Given the description of an element on the screen output the (x, y) to click on. 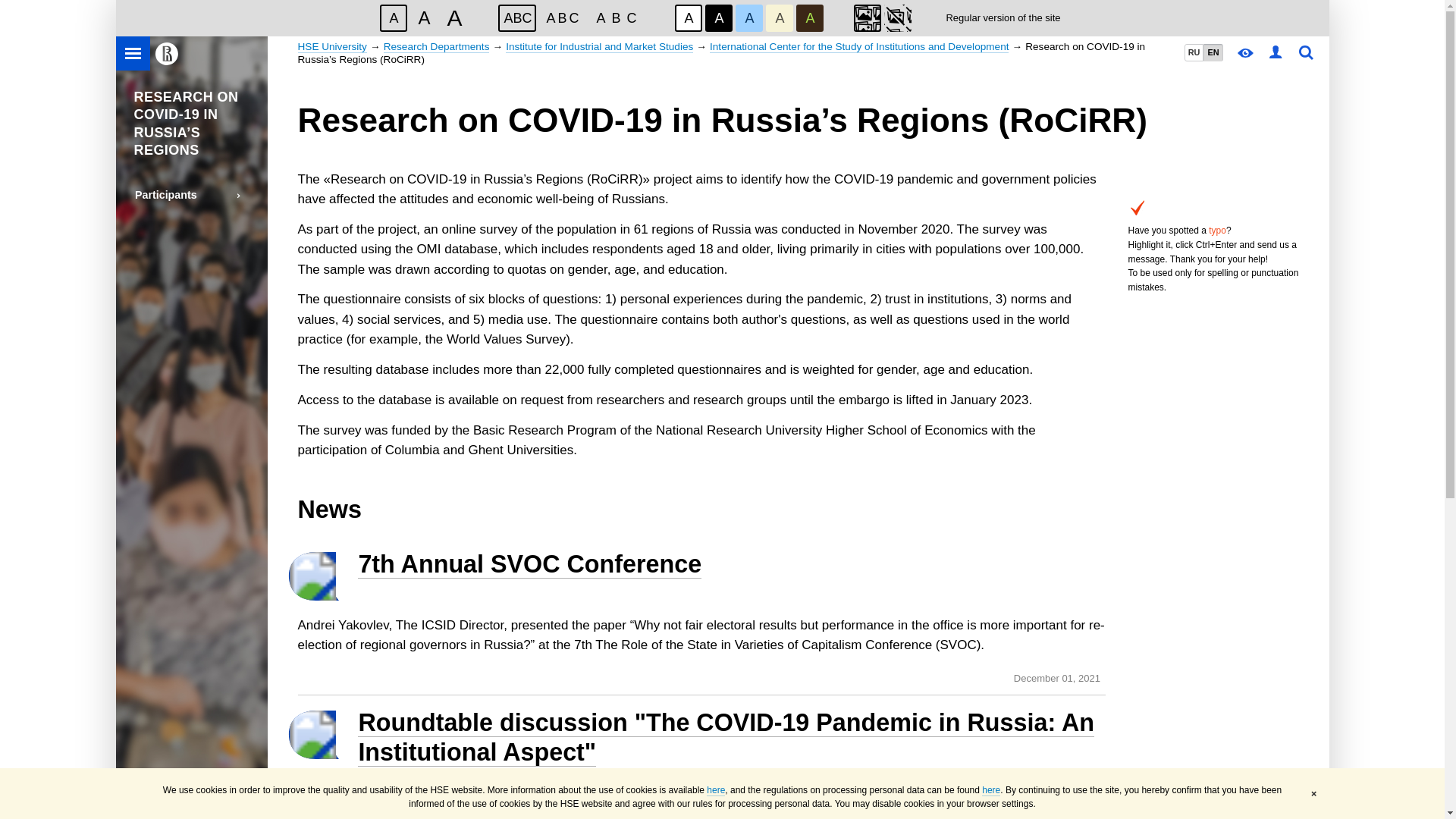
Research Departments (436, 46)
7th Annual SVOC Conference (529, 564)
here (715, 790)
Participants (191, 195)
here (990, 790)
Institute for Industrial and Market Studies (599, 46)
RU (1194, 52)
HSE University (331, 46)
